Given the description of an element on the screen output the (x, y) to click on. 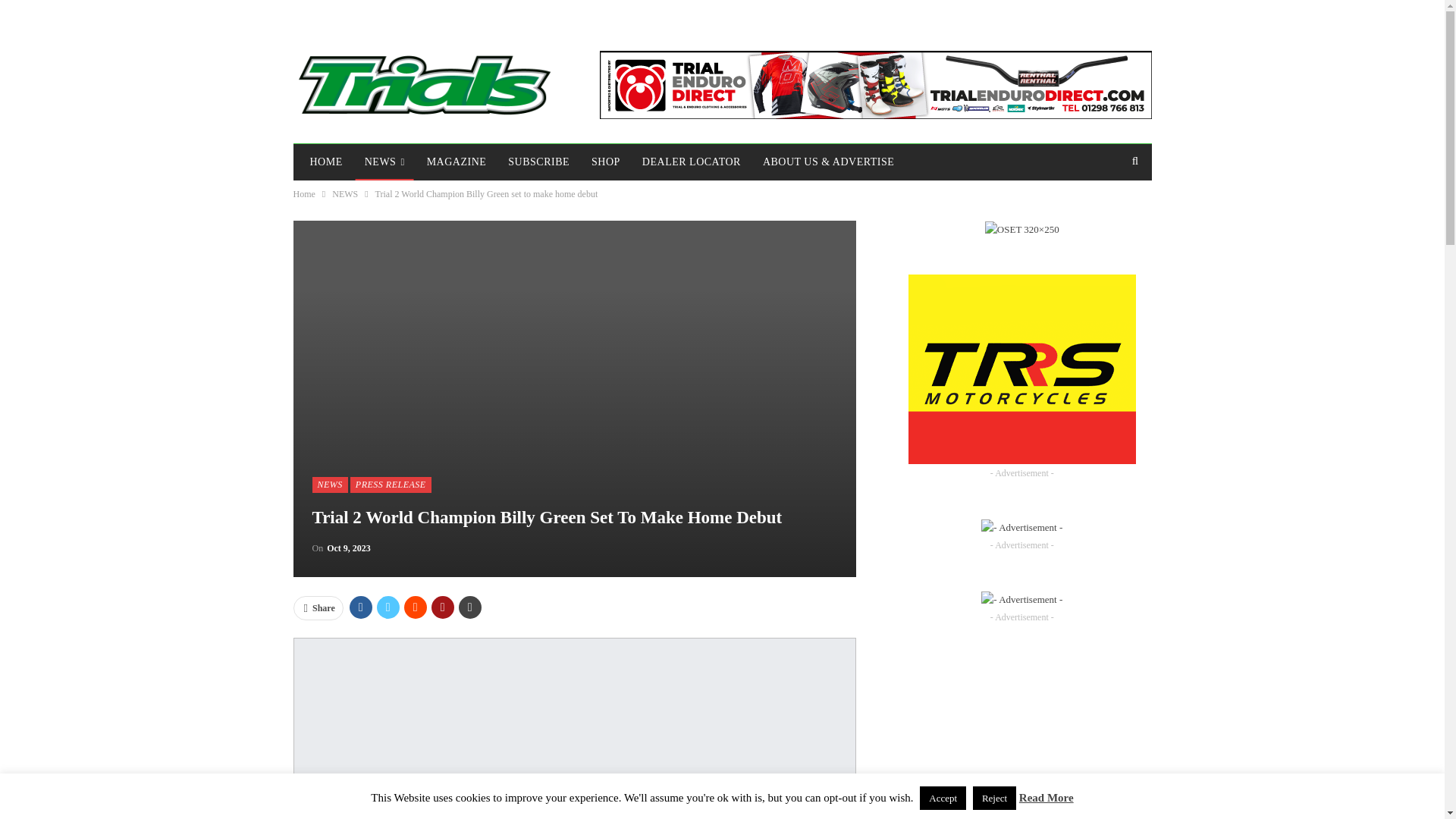
NEWS (384, 162)
DEALER LOCATOR (691, 162)
NEWS (344, 193)
HOME (324, 162)
PRESS RELEASE (390, 484)
MAGAZINE (456, 162)
SHOP (605, 162)
SUBSCRIBE (538, 162)
NEWS (330, 484)
Home (303, 193)
